Given the description of an element on the screen output the (x, y) to click on. 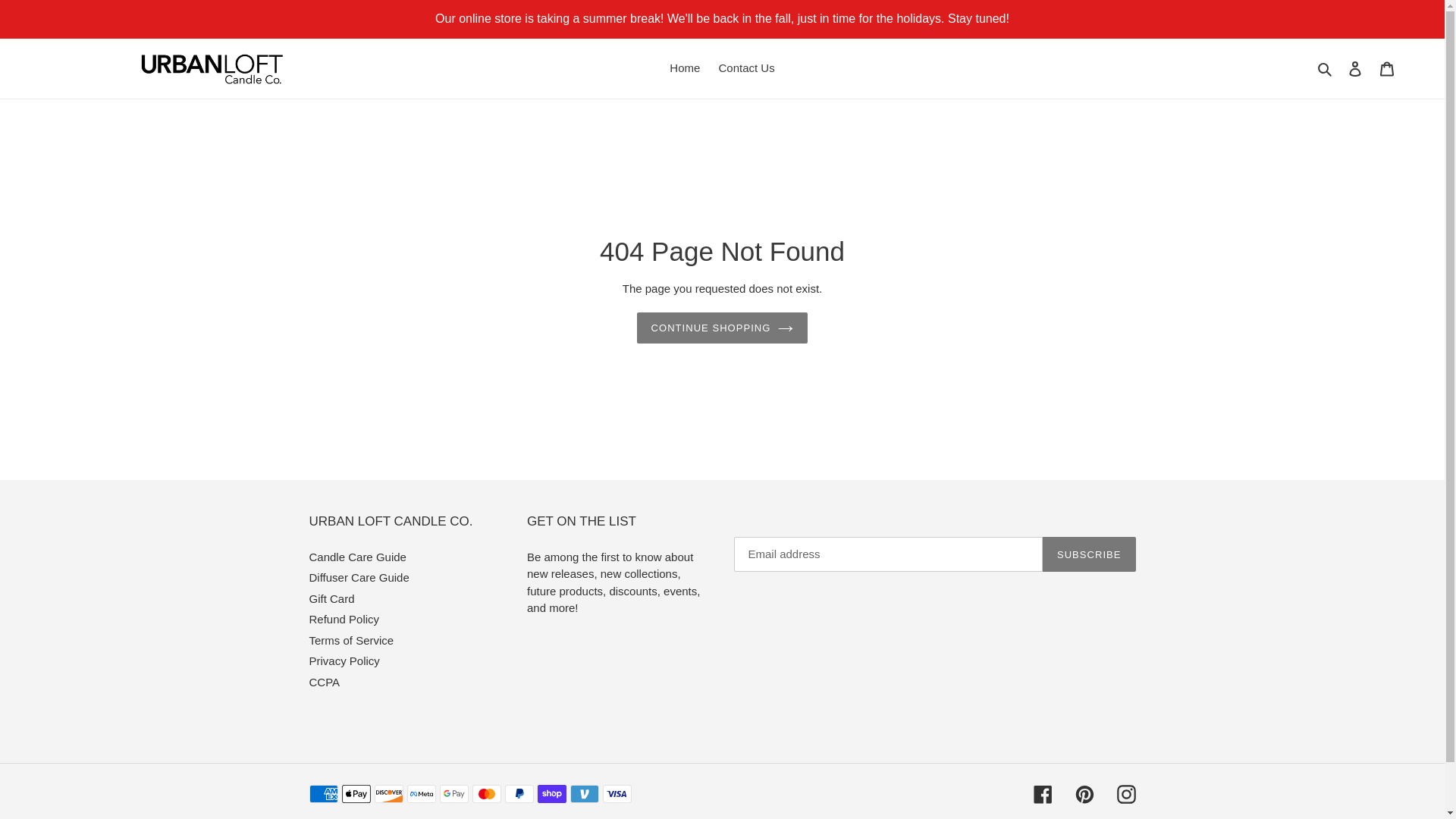
Instagram (1125, 793)
SUBSCRIBE (1088, 554)
Pinterest (1084, 793)
CONTINUE SHOPPING (722, 327)
Diffuser Care Guide (358, 576)
Search (1326, 67)
Log in (1355, 68)
Privacy Policy (344, 660)
Refund Policy (344, 618)
Gift Card (331, 598)
Candle Care Guide (357, 556)
Cart (1387, 68)
Home (684, 68)
Facebook (1041, 793)
CCPA (324, 681)
